Given the description of an element on the screen output the (x, y) to click on. 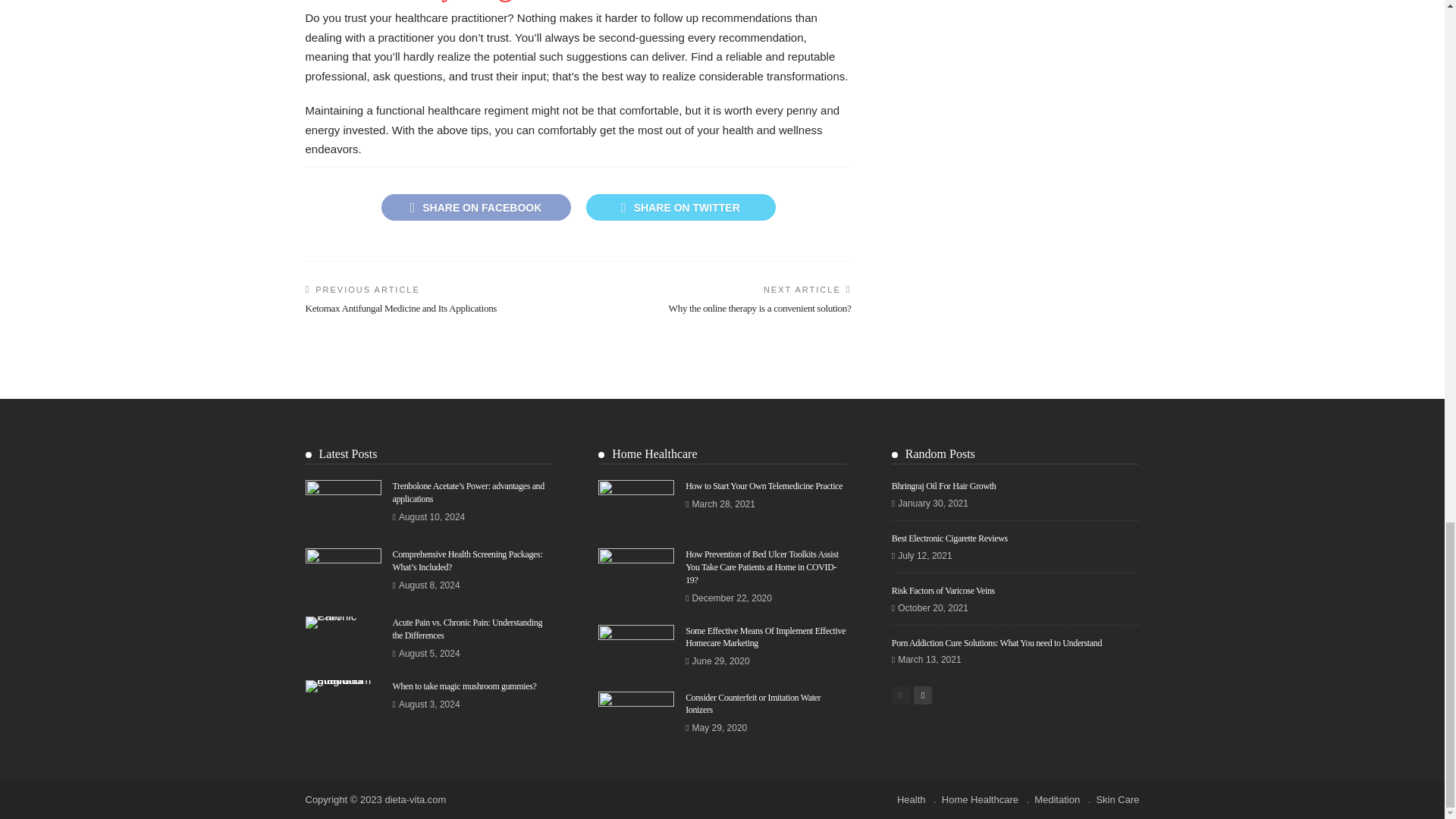
Ketomax Antifungal Medicine and Its Applications (400, 307)
SHARE ON TWITTER (679, 207)
SHARE ON FACEBOOK (475, 207)
Ketomax Antifungal Medicine and Its Applications (400, 307)
Why the online therapy is a convenient solution? (759, 307)
Why the online therapy is a convenient solution? (759, 307)
